Given the description of an element on the screen output the (x, y) to click on. 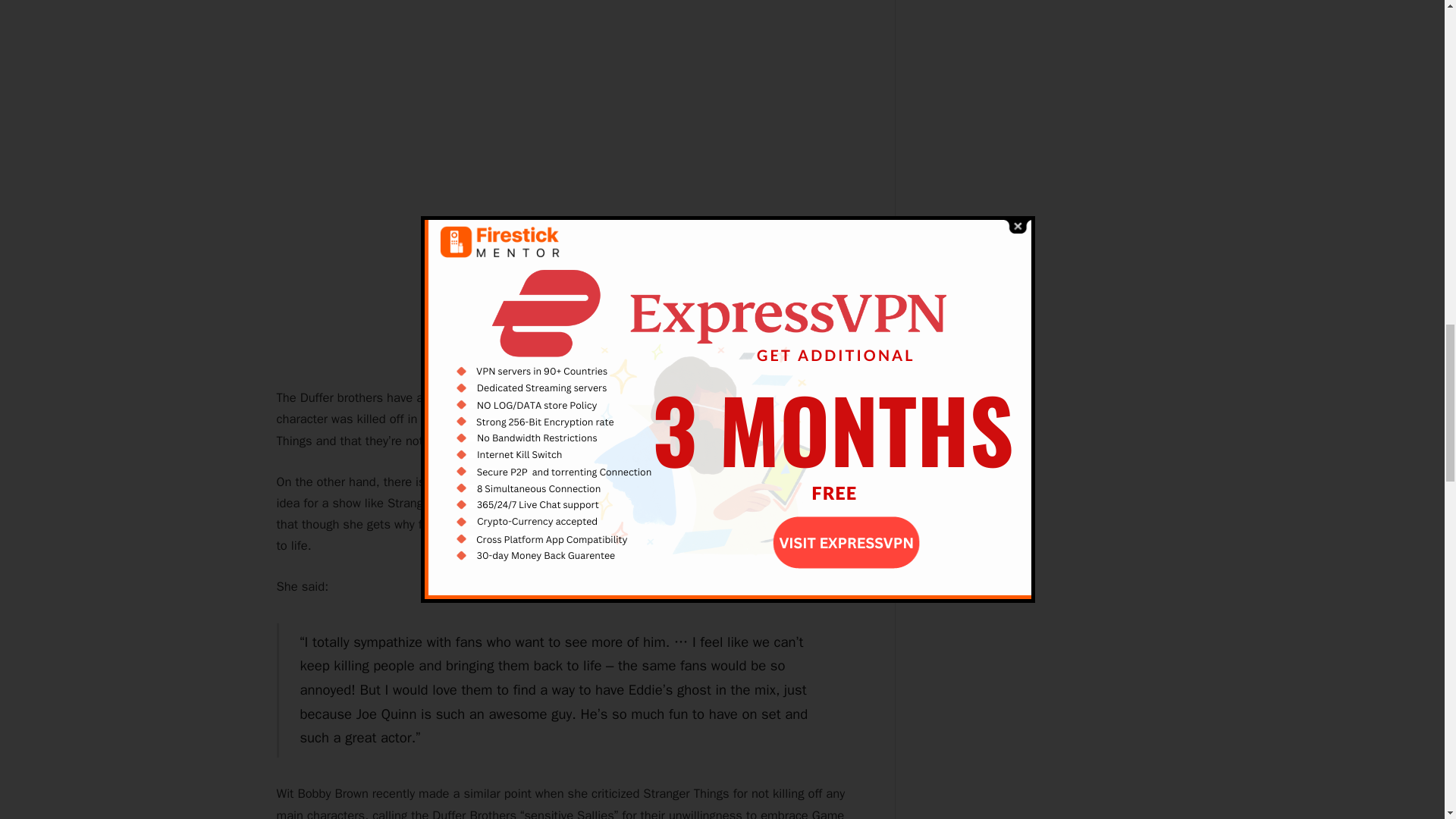
NME (832, 503)
